Given the description of an element on the screen output the (x, y) to click on. 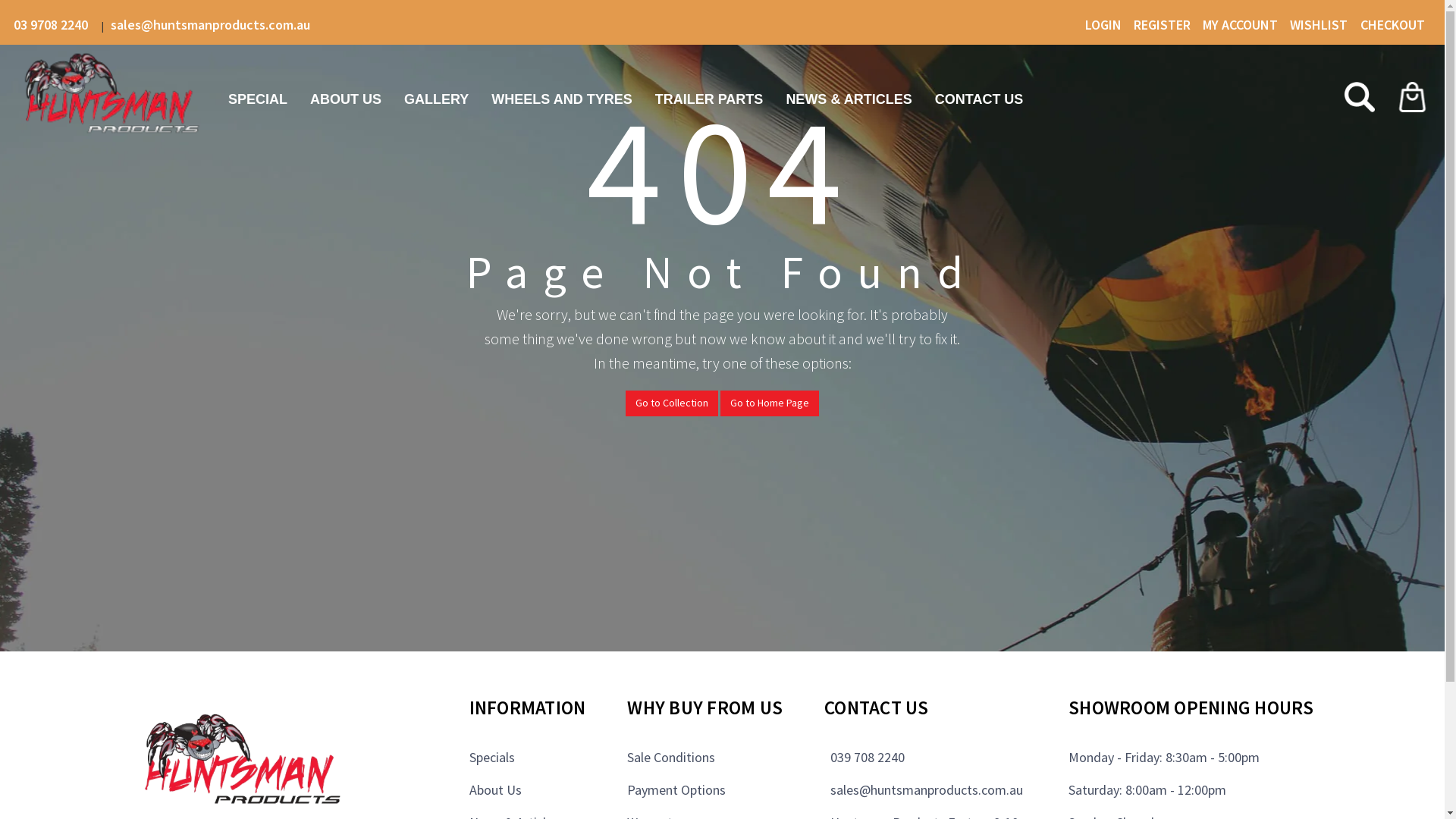
MY ACCOUNT Element type: text (1244, 24)
sales@huntsmanproducts.com.au Element type: text (213, 24)
NEWS & ARTICLES Element type: text (848, 99)
CHECKOUT Element type: text (1395, 24)
Sale Conditions Element type: text (671, 756)
TRAILER PARTS Element type: text (709, 99)
  sales@huntsmanproducts.com.au Element type: text (923, 789)
Go to Home Page Element type: text (769, 403)
Payment Options Element type: text (676, 789)
Specials Element type: text (491, 756)
About Us Element type: text (494, 789)
WISHLIST Element type: text (1324, 24)
LOGIN Element type: text (1108, 24)
03 9708 2240 Element type: text (55, 24)
GALLERY Element type: text (436, 99)
WHEELS AND TYRES Element type: text (561, 99)
Go to Collection Element type: text (671, 403)
ABOUT US Element type: text (345, 99)
CONTACT US Element type: text (979, 99)
  039 708 2240 Element type: text (864, 756)
SPECIAL Element type: text (257, 99)
REGISTER Element type: text (1166, 24)
huntsmanproducts Element type: hover (114, 99)
